Given the description of an element on the screen output the (x, y) to click on. 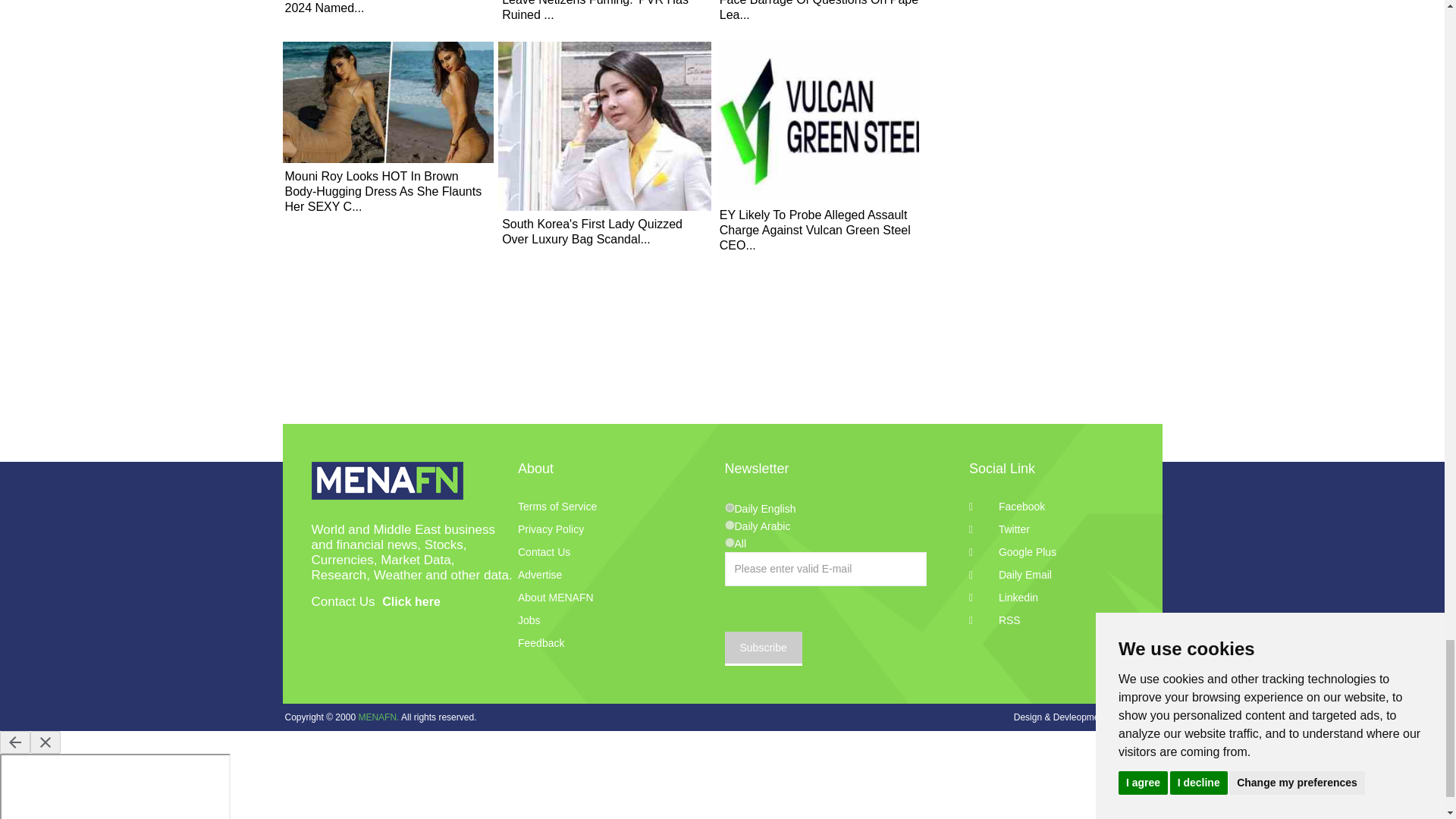
Subscribe (763, 648)
